Given the description of an element on the screen output the (x, y) to click on. 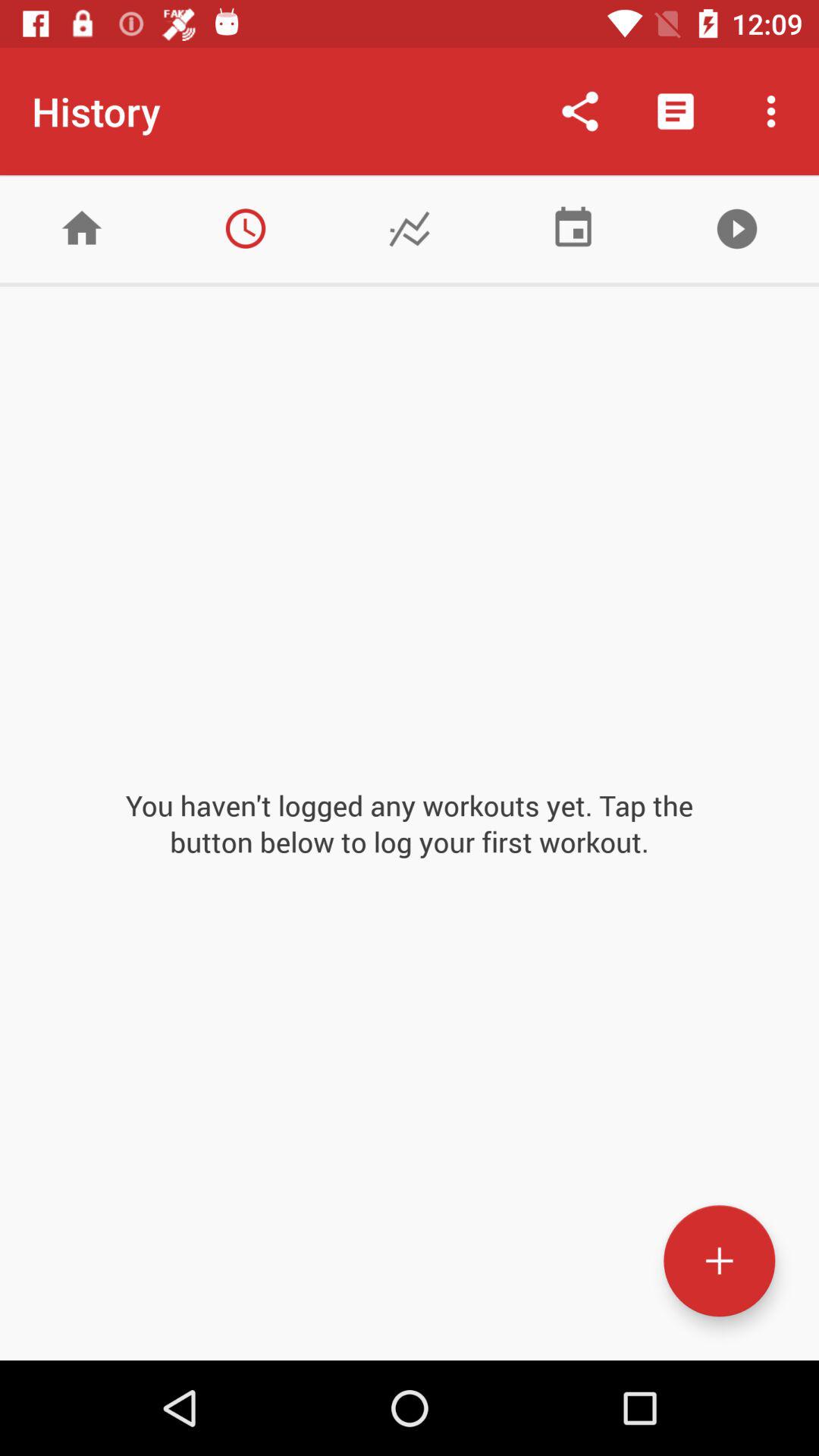
home page (81, 228)
